Given the description of an element on the screen output the (x, y) to click on. 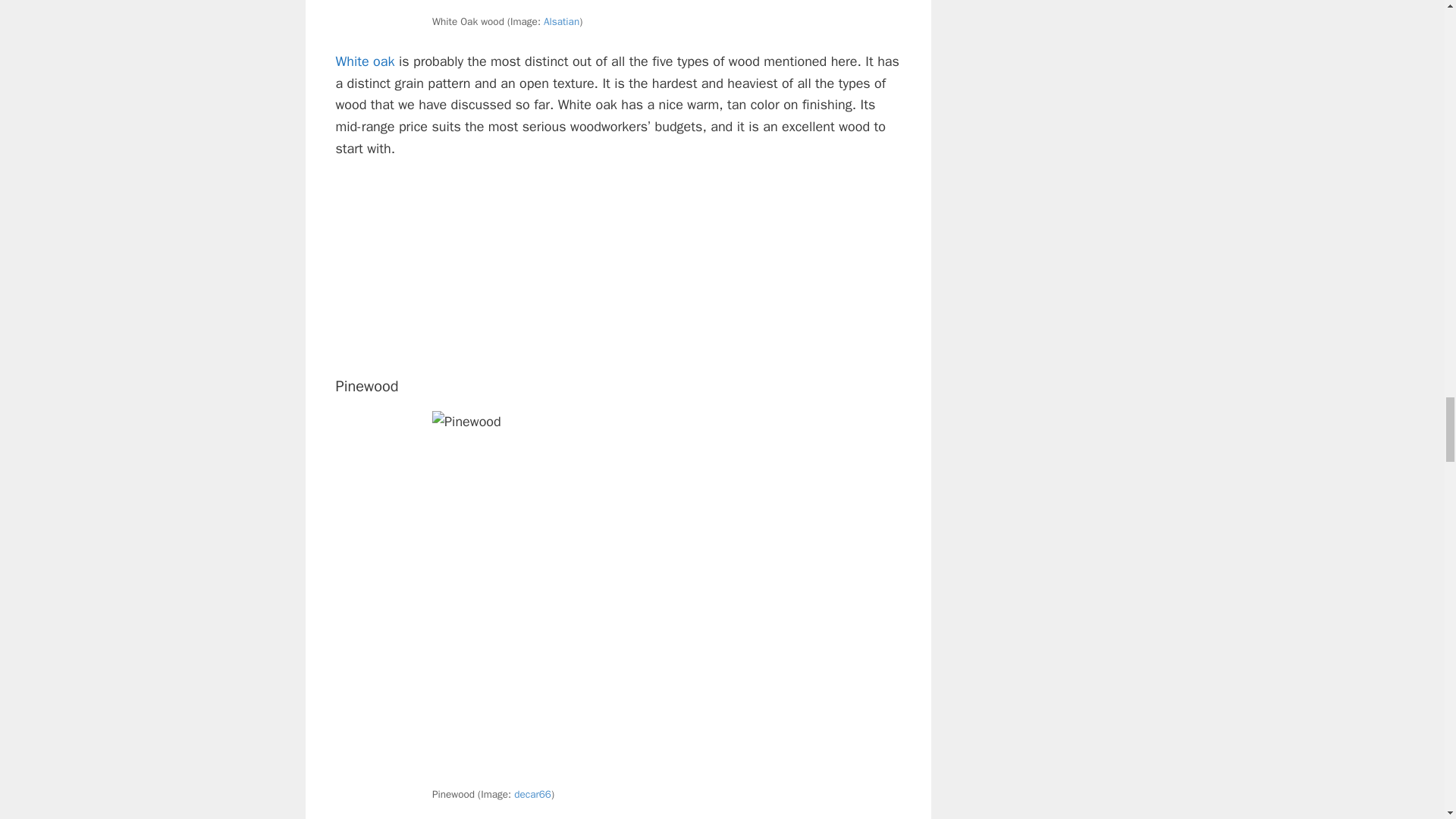
White oak (364, 61)
Alsatian (561, 21)
decar66 (532, 793)
